Given the description of an element on the screen output the (x, y) to click on. 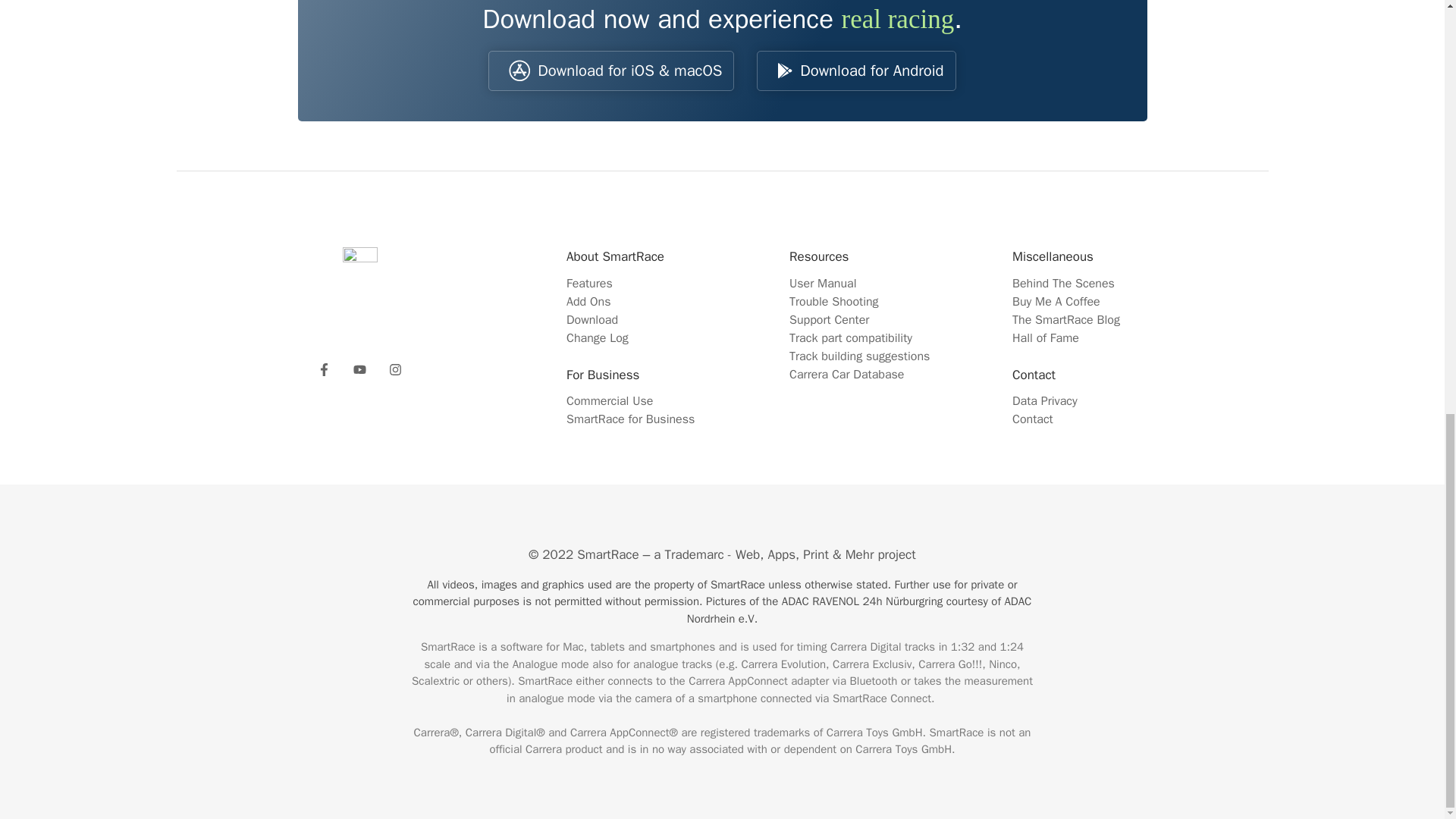
Download for Android (856, 70)
Download (591, 319)
Add Ons (588, 301)
Features (589, 283)
